Given the description of an element on the screen output the (x, y) to click on. 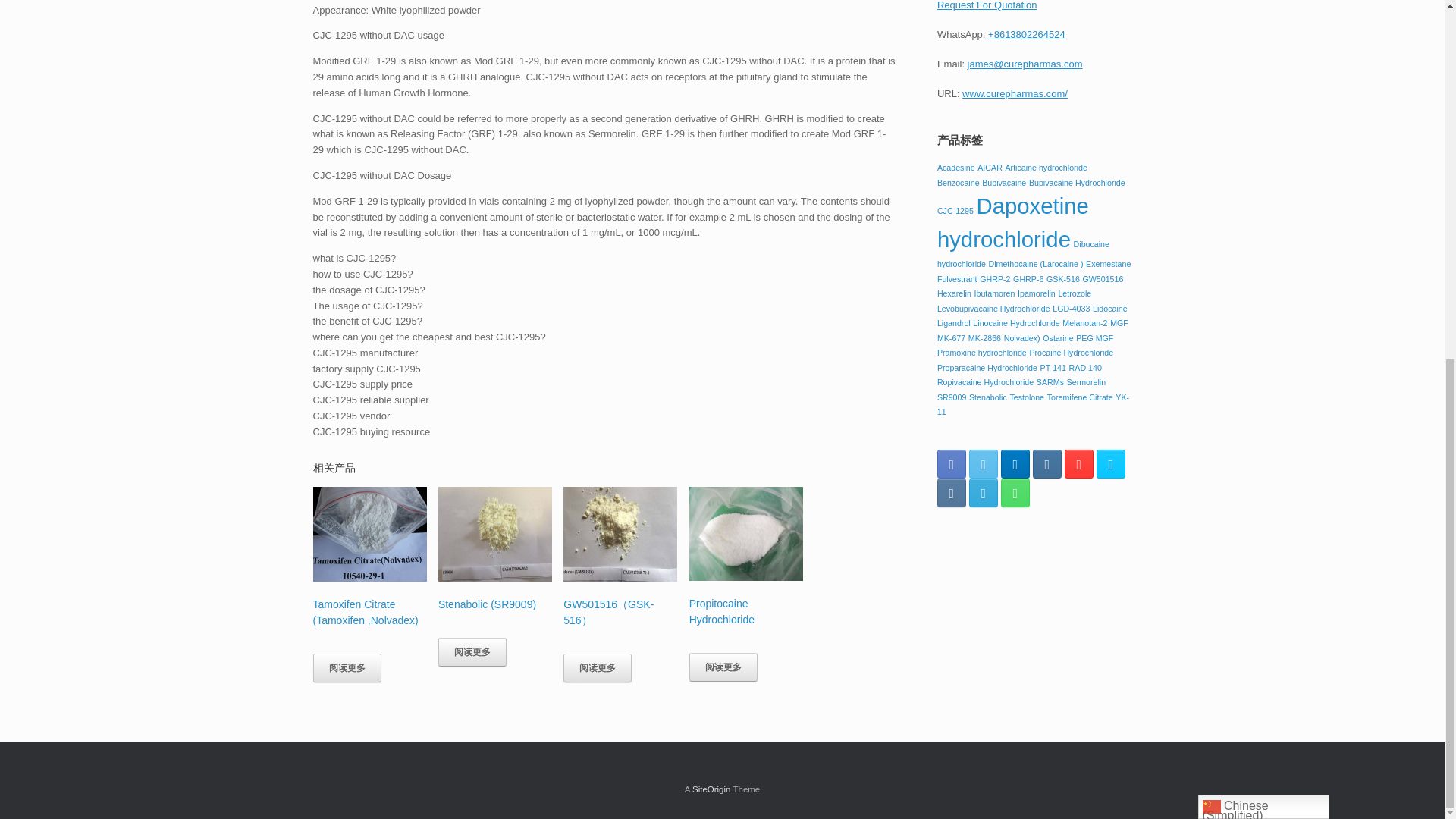
CUREPHARMA Phone (1015, 492)
CUREPHARMA Facebook (951, 463)
CUREPHARMA Email (983, 492)
CUREPHARMA Pinterest (1078, 463)
CUREPHARMA Skype (1110, 463)
CUREPHARMA VK (951, 492)
CUREPHARMA Instagram (1046, 463)
CUREPHARMA LinkedIn (1015, 463)
